Given the description of an element on the screen output the (x, y) to click on. 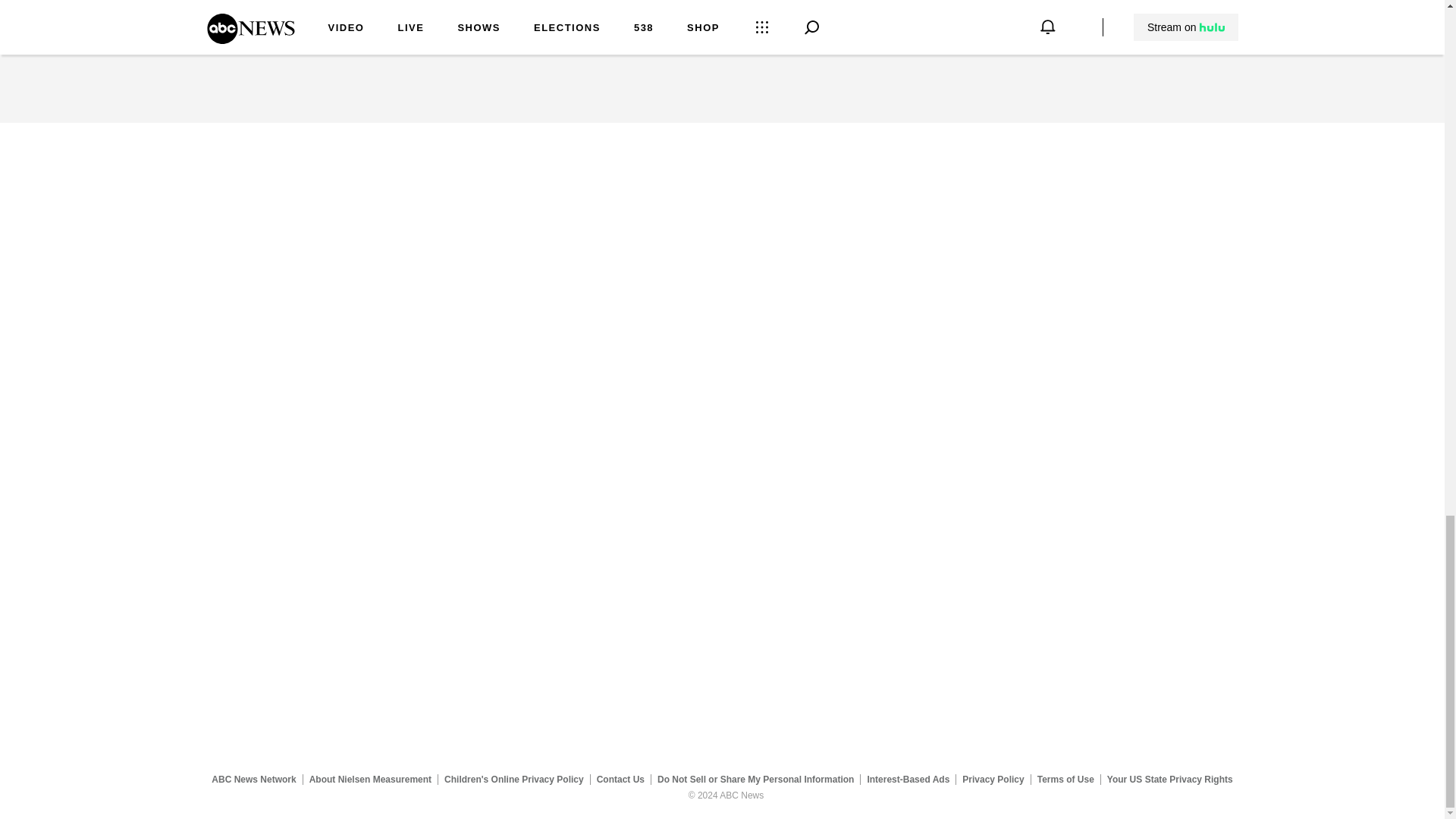
Interest-Based Ads (908, 778)
Terms of Use (1065, 778)
Your US State Privacy Rights (1169, 778)
Children's Online Privacy Policy (514, 778)
Contact Us (620, 778)
Privacy Policy (993, 778)
Do Not Sell or Share My Personal Information (755, 778)
ABC News Network (253, 778)
About Nielsen Measurement (370, 778)
